Given the description of an element on the screen output the (x, y) to click on. 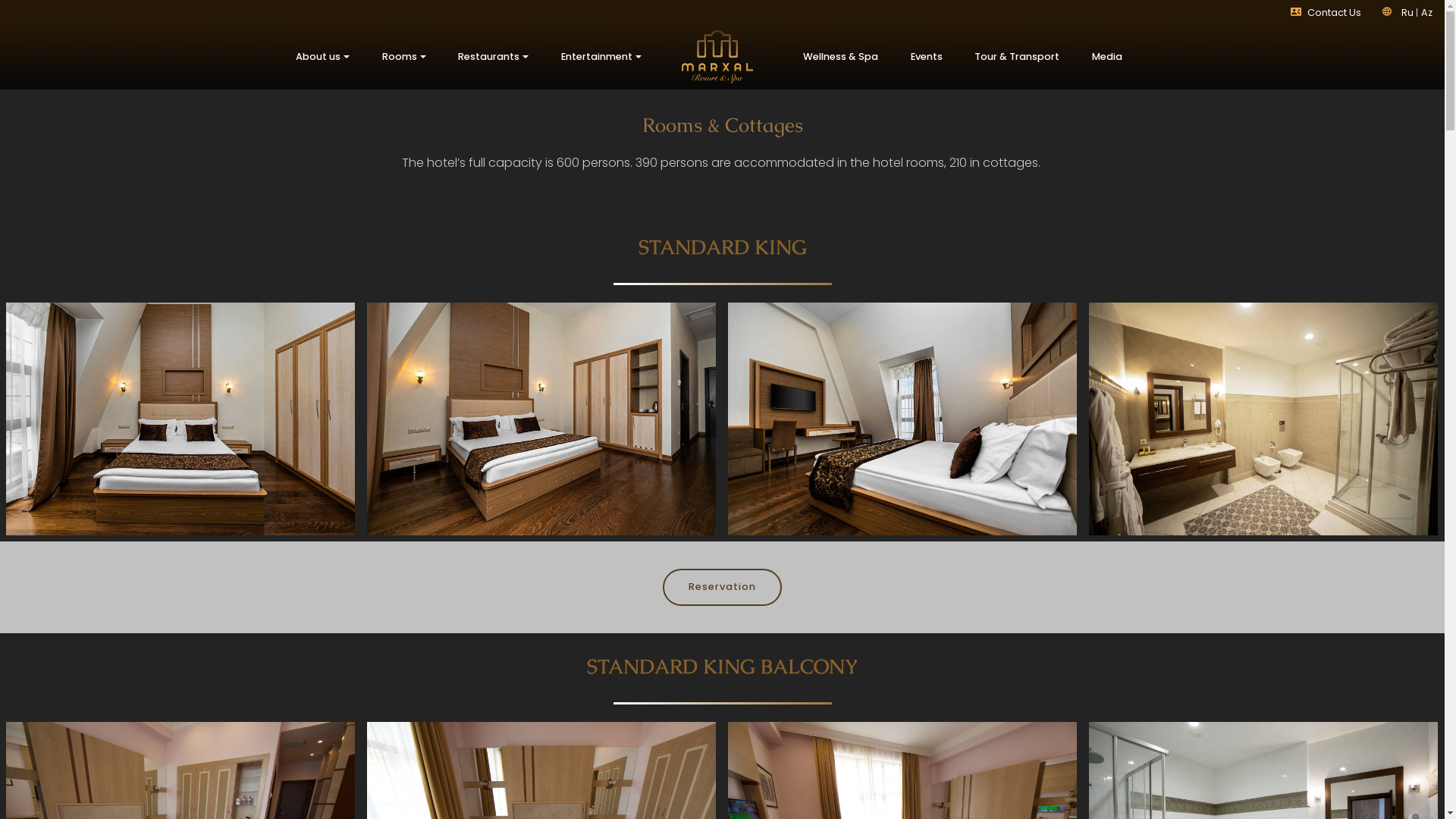
About us Element type: text (322, 56)
Ru  Element type: text (1408, 12)
Reservation Element type: text (721, 586)
Media Element type: text (1107, 56)
Rooms Element type: text (403, 56)
Tour & Transport Element type: text (1017, 56)
Contact Us Element type: text (1334, 12)
Az Element type: text (1426, 12)
Restaurants Element type: text (493, 56)
Events Element type: text (926, 56)
Wellness & Spa Element type: text (840, 56)
  Element type: text (1362, 12)
Entertainment Element type: text (601, 56)
